Given the description of an element on the screen output the (x, y) to click on. 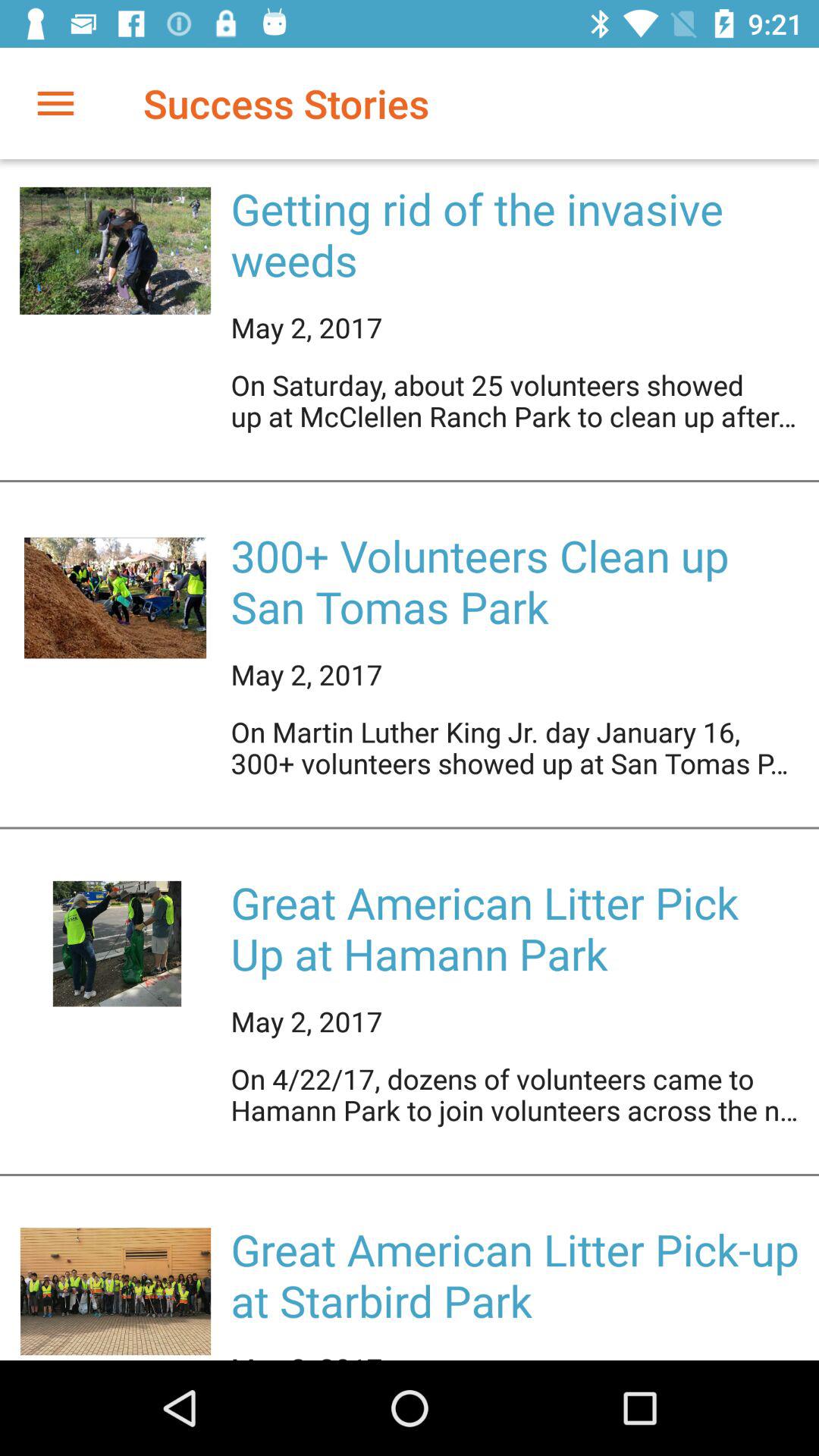
options menu (55, 103)
